Given the description of an element on the screen output the (x, y) to click on. 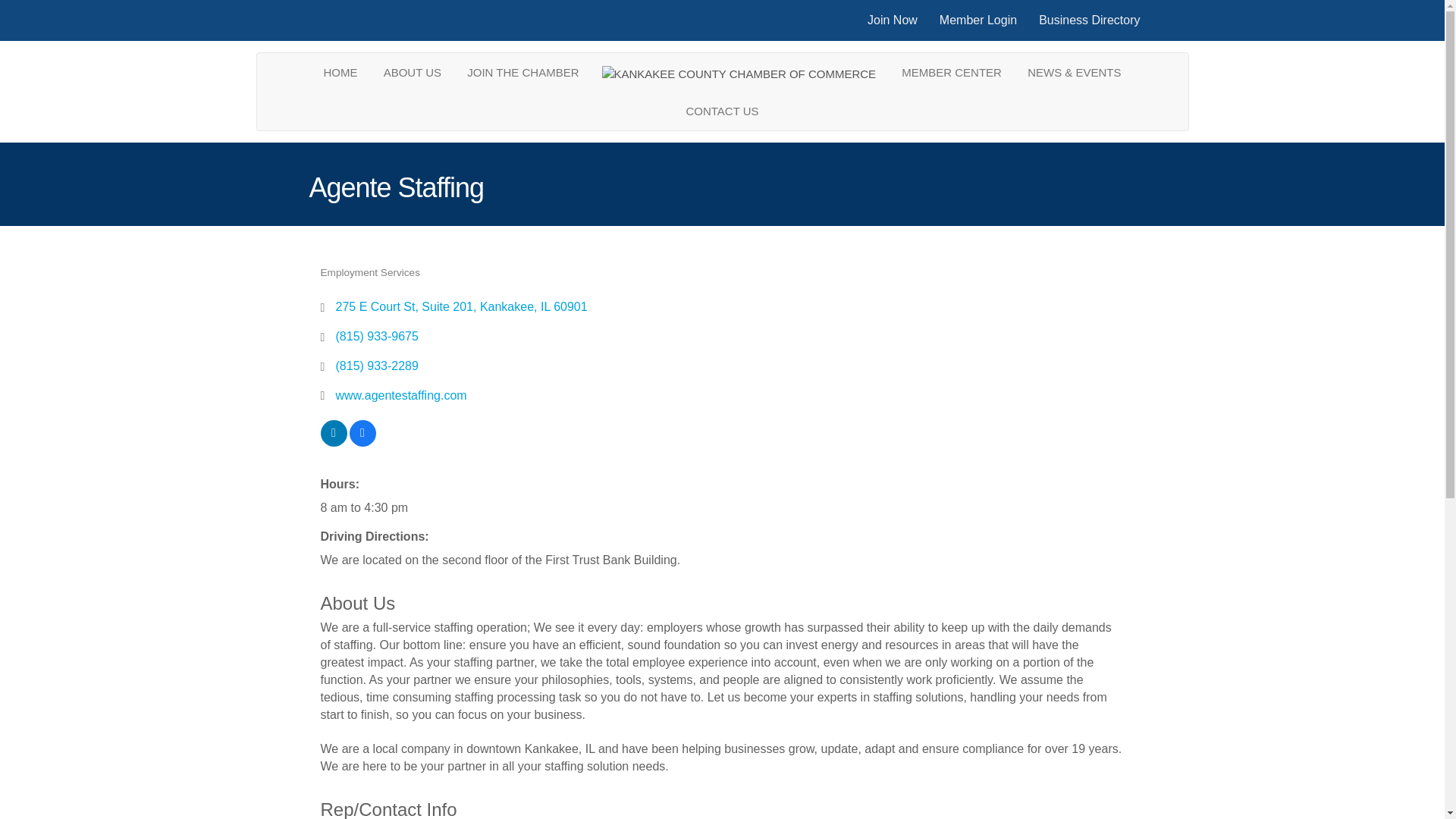
View on LinkedIn (333, 441)
View on Facebook (362, 441)
